Given the description of an element on the screen output the (x, y) to click on. 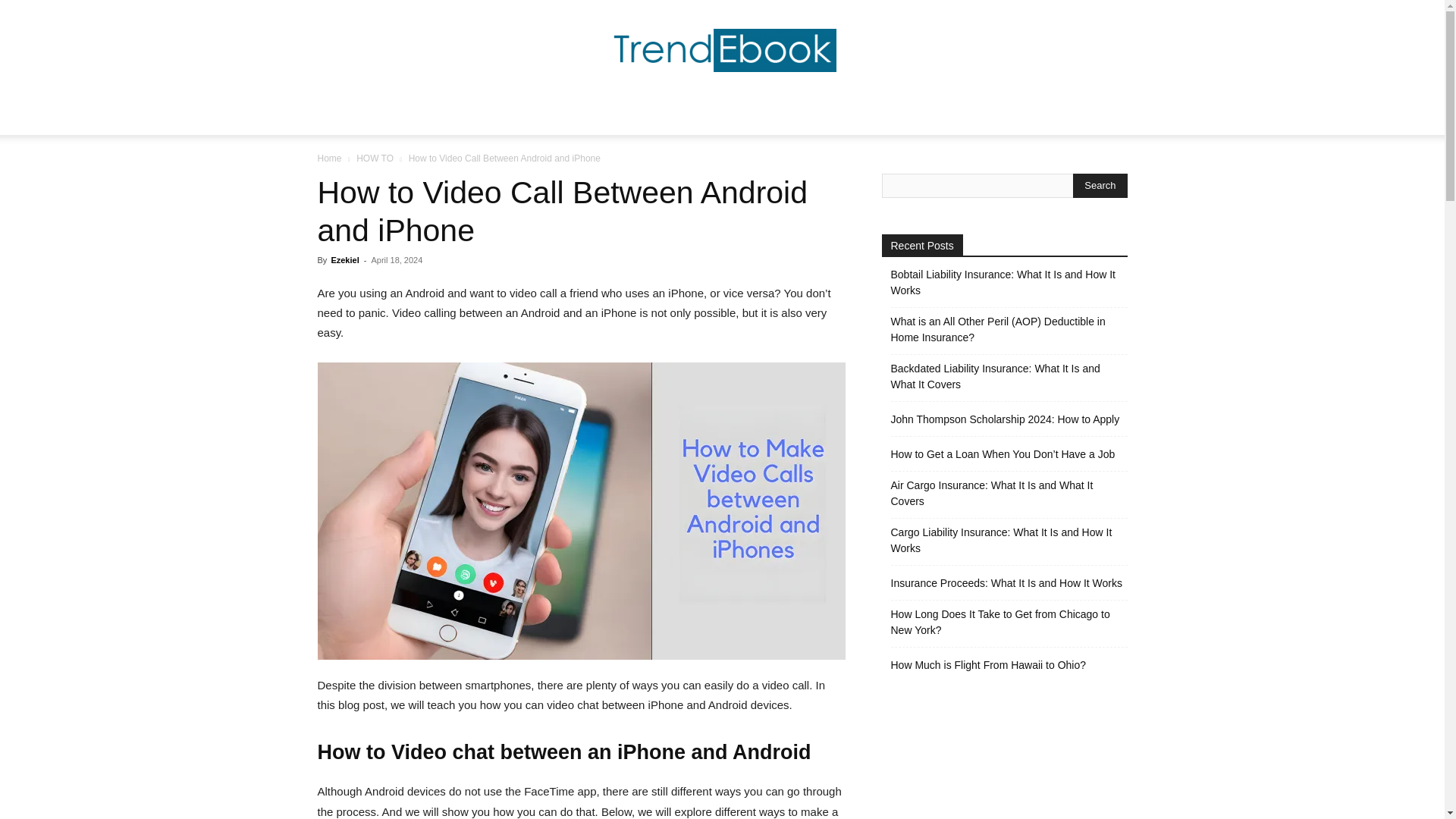
Search (1099, 185)
HOW TO (374, 158)
ABOUT US (959, 116)
HOME (472, 116)
EXAM (624, 116)
REVIEW (682, 116)
TECH (573, 116)
Home (328, 158)
View all posts in HOW TO (374, 158)
JOBS (523, 116)
HOW TO (746, 116)
INSURANCE (820, 116)
Ezekiel (344, 259)
Search (1085, 177)
LOANS (892, 116)
